Given the description of an element on the screen output the (x, y) to click on. 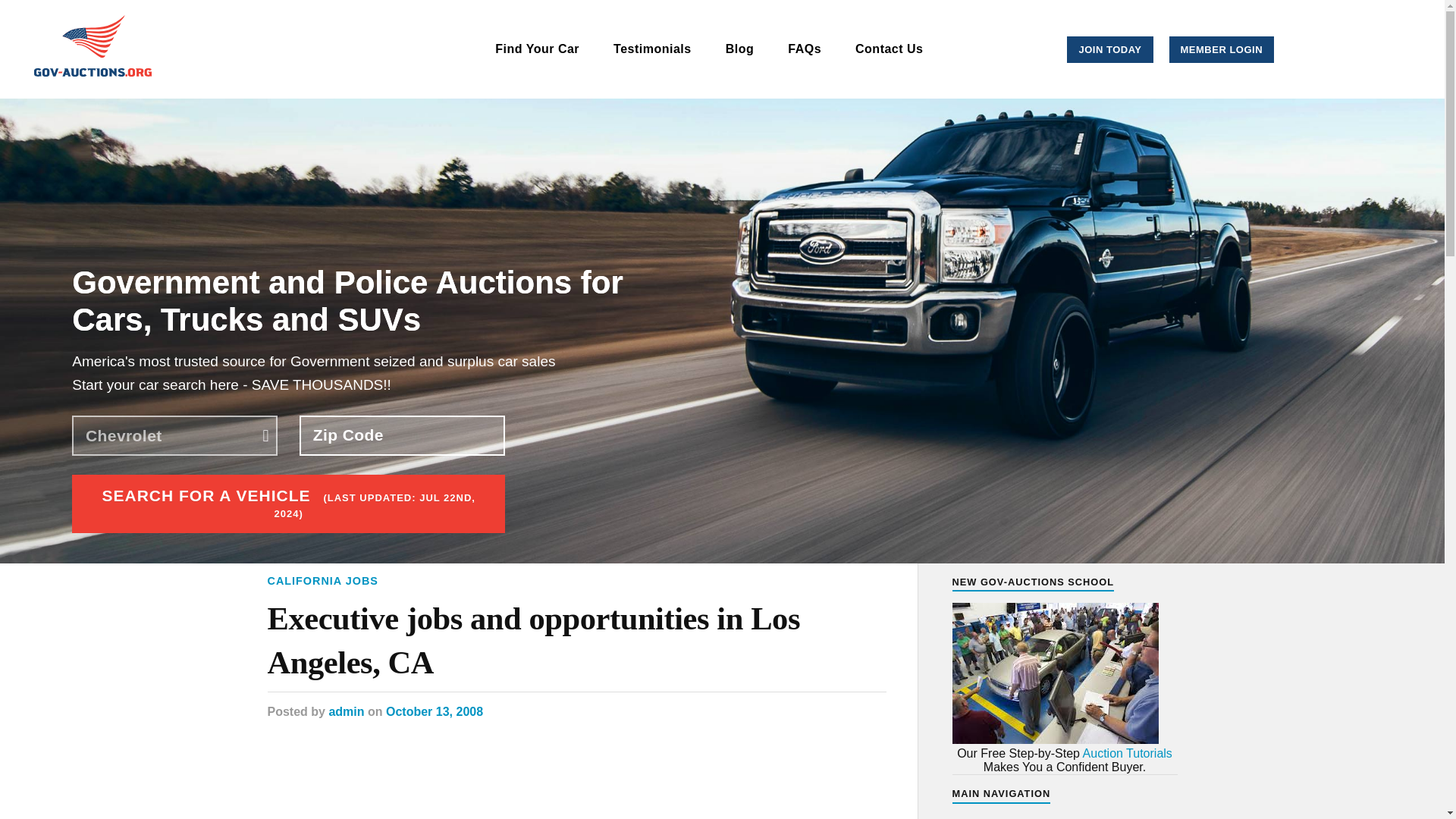
admin (346, 711)
Blog Index (981, 818)
JOBS (101, 543)
Blog (739, 49)
Contact Us (889, 49)
October 13, 2008 (434, 711)
FAQs (804, 49)
Testimonials (652, 49)
MEMBER LOGIN (1222, 49)
Advertisement (575, 784)
JOIN TODAY (1110, 49)
CALIFORNIA JOBS (321, 580)
Auction Tutorials (1127, 753)
Find Your Car (537, 49)
